Given the description of an element on the screen output the (x, y) to click on. 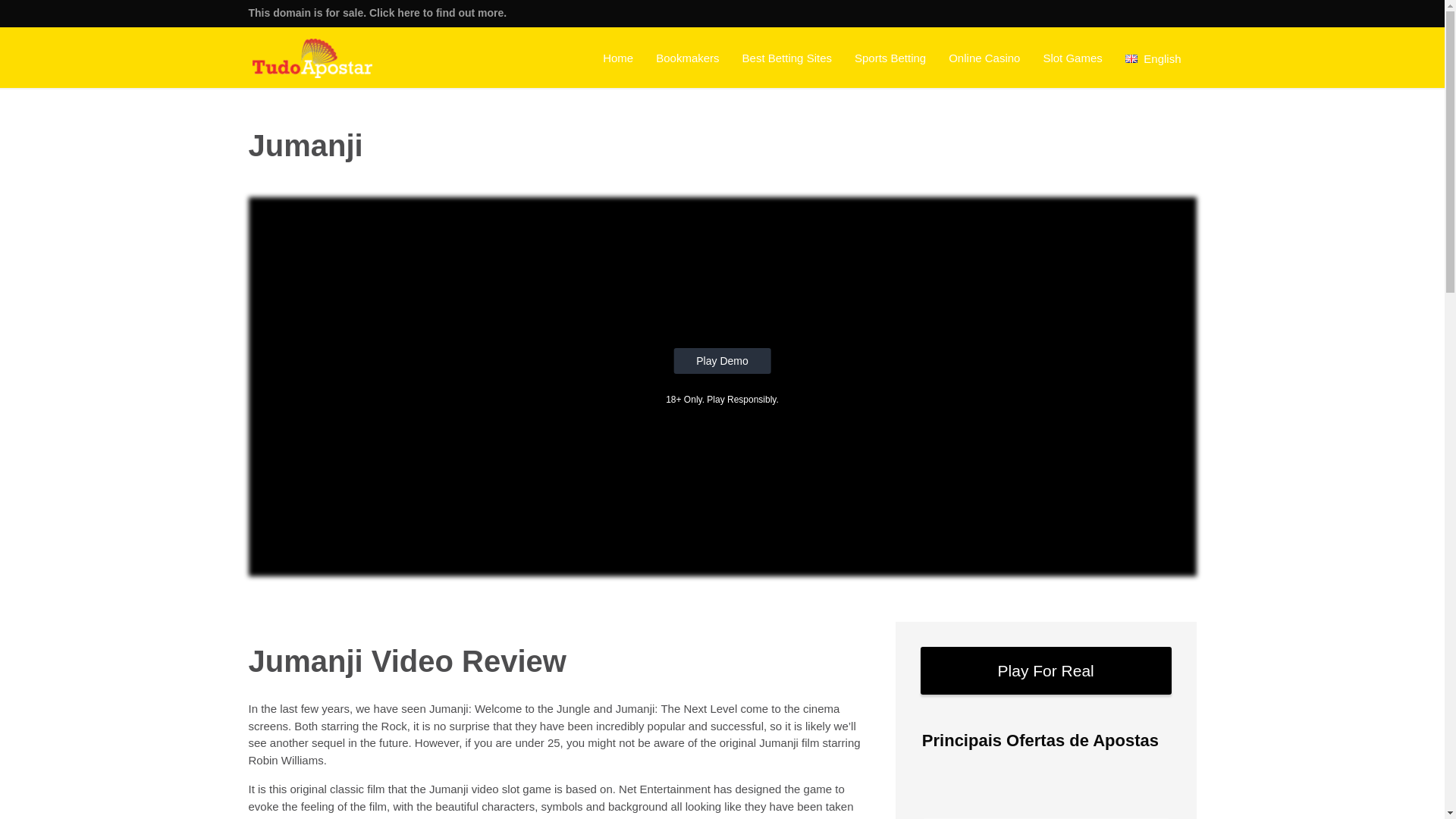
Bookmakers (687, 57)
Best Betting Sites (786, 57)
Home (618, 57)
Play For Real (1046, 670)
Sports Betting (890, 57)
English (1152, 56)
Online Casino (983, 57)
Slot Games (1071, 57)
Play Demo (721, 360)
